Given the description of an element on the screen output the (x, y) to click on. 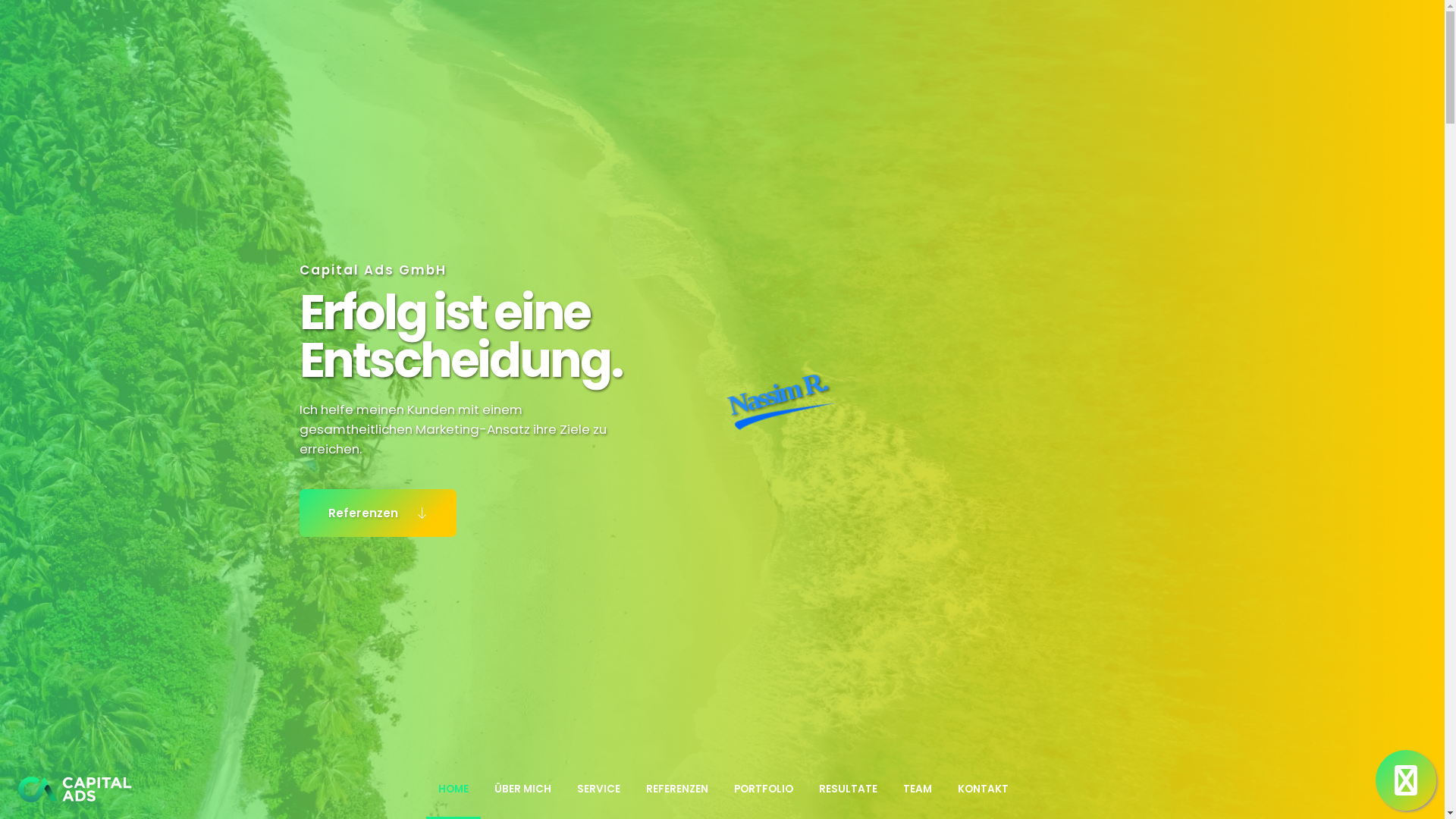
Referenzen Element type: text (377, 512)
